Given the description of an element on the screen output the (x, y) to click on. 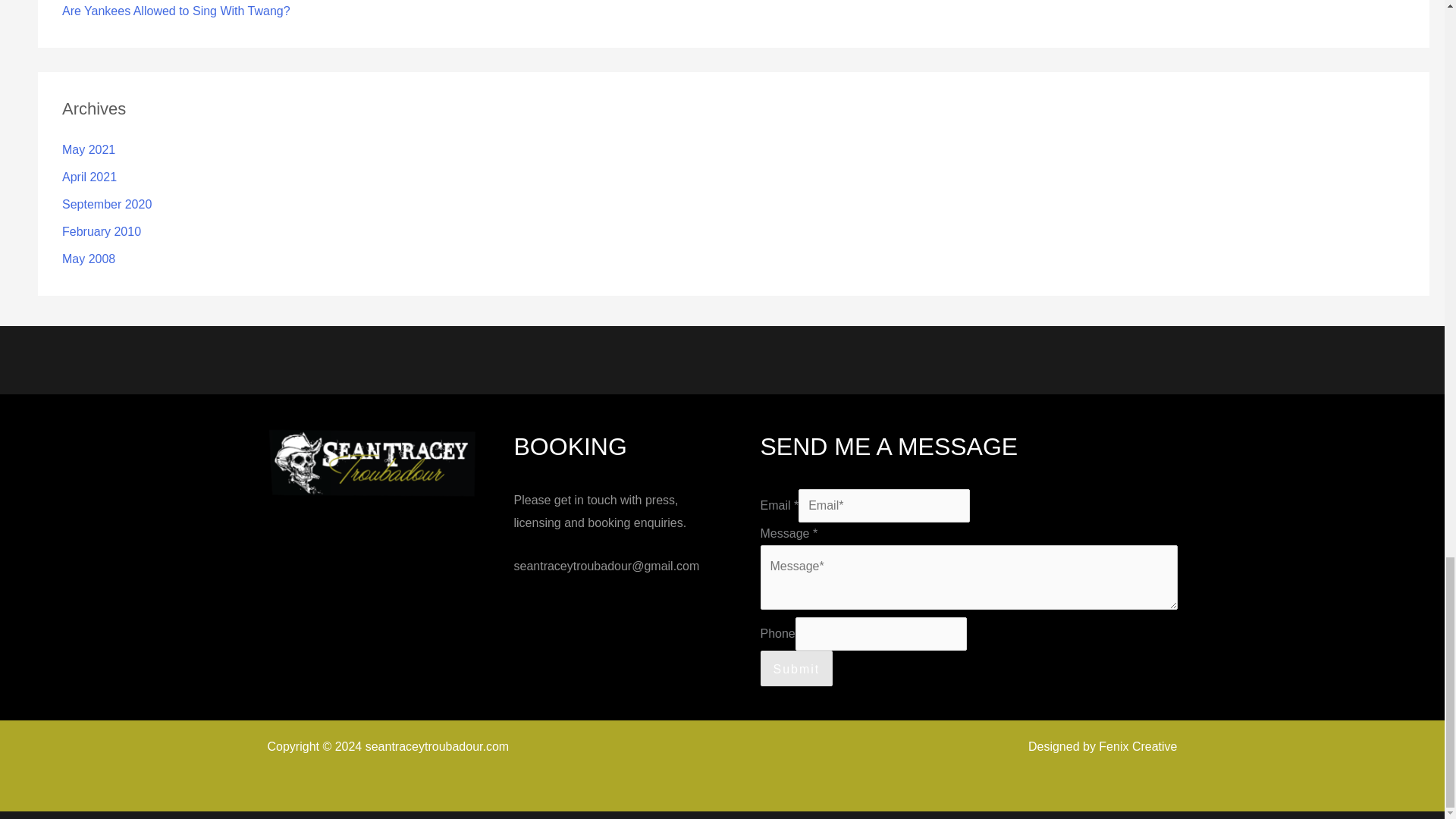
Are Yankees Allowed to Sing With Twang? (175, 10)
May 2021 (88, 149)
April 2021 (89, 176)
